Given the description of an element on the screen output the (x, y) to click on. 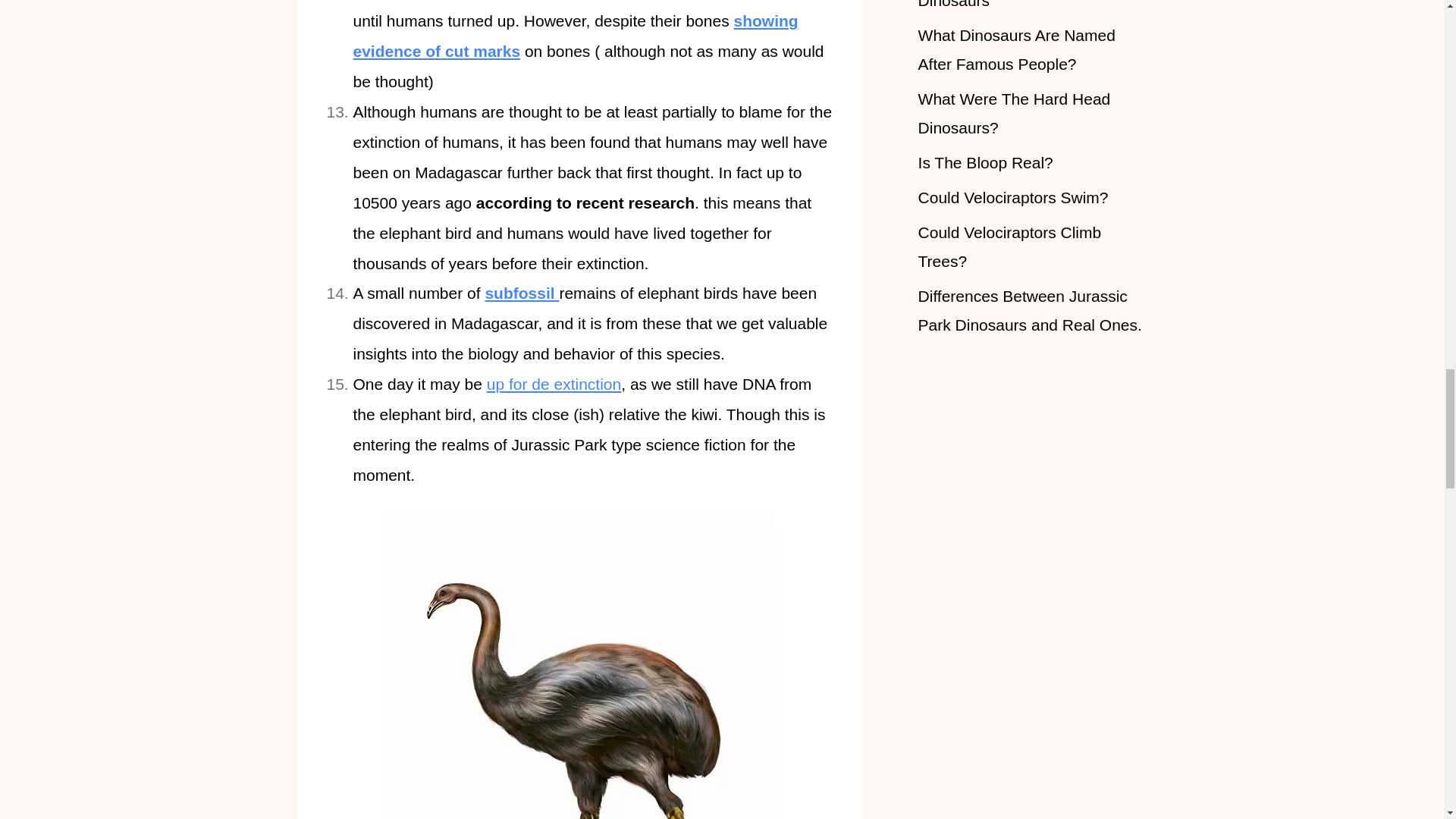
showing evidence of cut marks (575, 35)
up for de extinction (553, 384)
subfossil (521, 293)
